Given the description of an element on the screen output the (x, y) to click on. 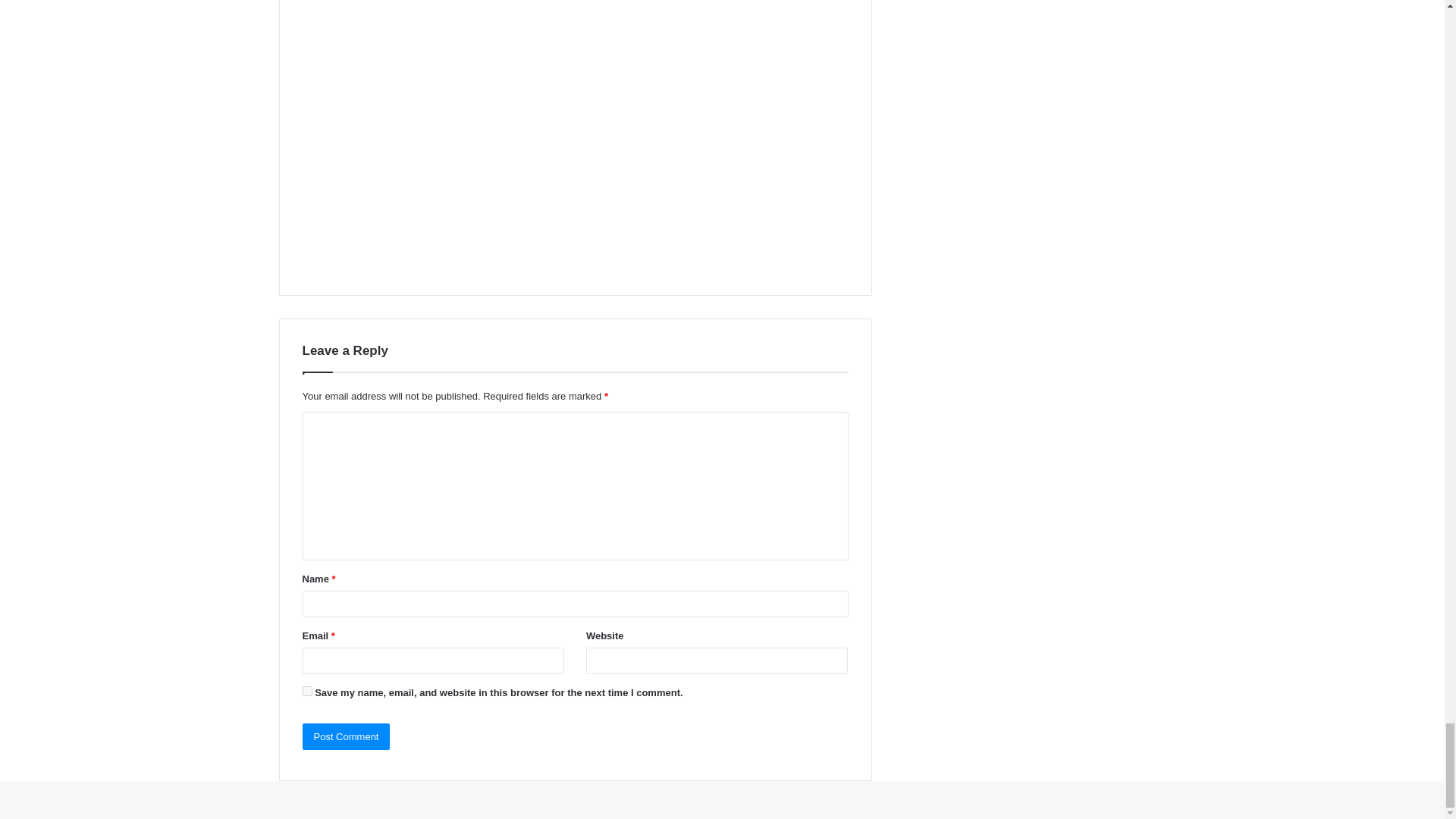
Post Comment (345, 736)
Post Comment (345, 736)
yes (306, 691)
